Given the description of an element on the screen output the (x, y) to click on. 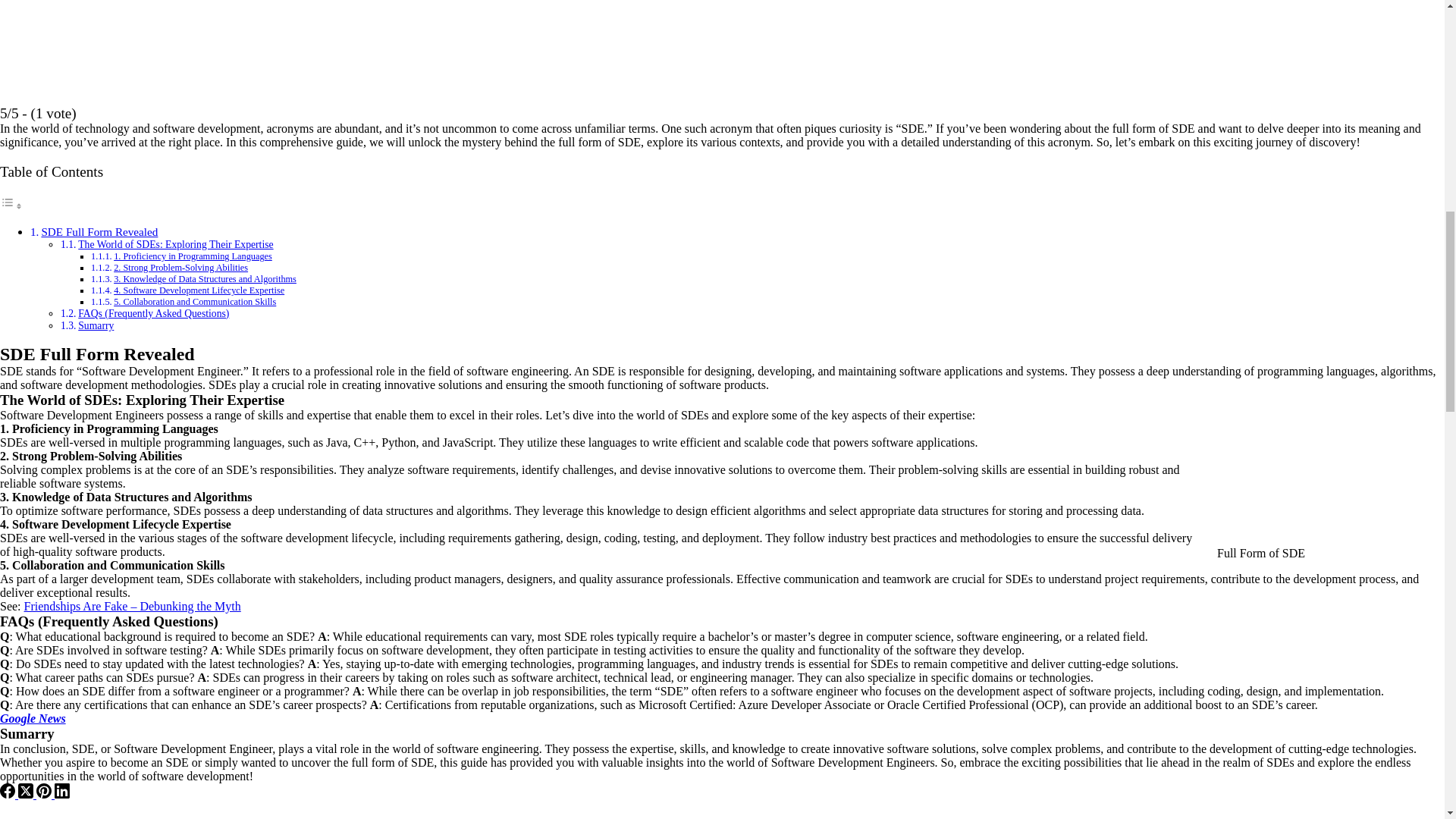
4. Software Development Lifecycle Expertise (198, 290)
5. Collaboration and Communication Skills (194, 301)
SDE Full Form Revealed (98, 231)
The World of SDEs: Exploring Their Expertise (175, 244)
SDE Full Form Revealed (98, 231)
3. Knowledge of Data Structures and Algorithms (205, 278)
5. Collaboration and Communication Skills (194, 301)
3. Knowledge of Data Structures and Algorithms (205, 278)
Sumarry (95, 325)
1. Proficiency in Programming Languages (192, 255)
